Given the description of an element on the screen output the (x, y) to click on. 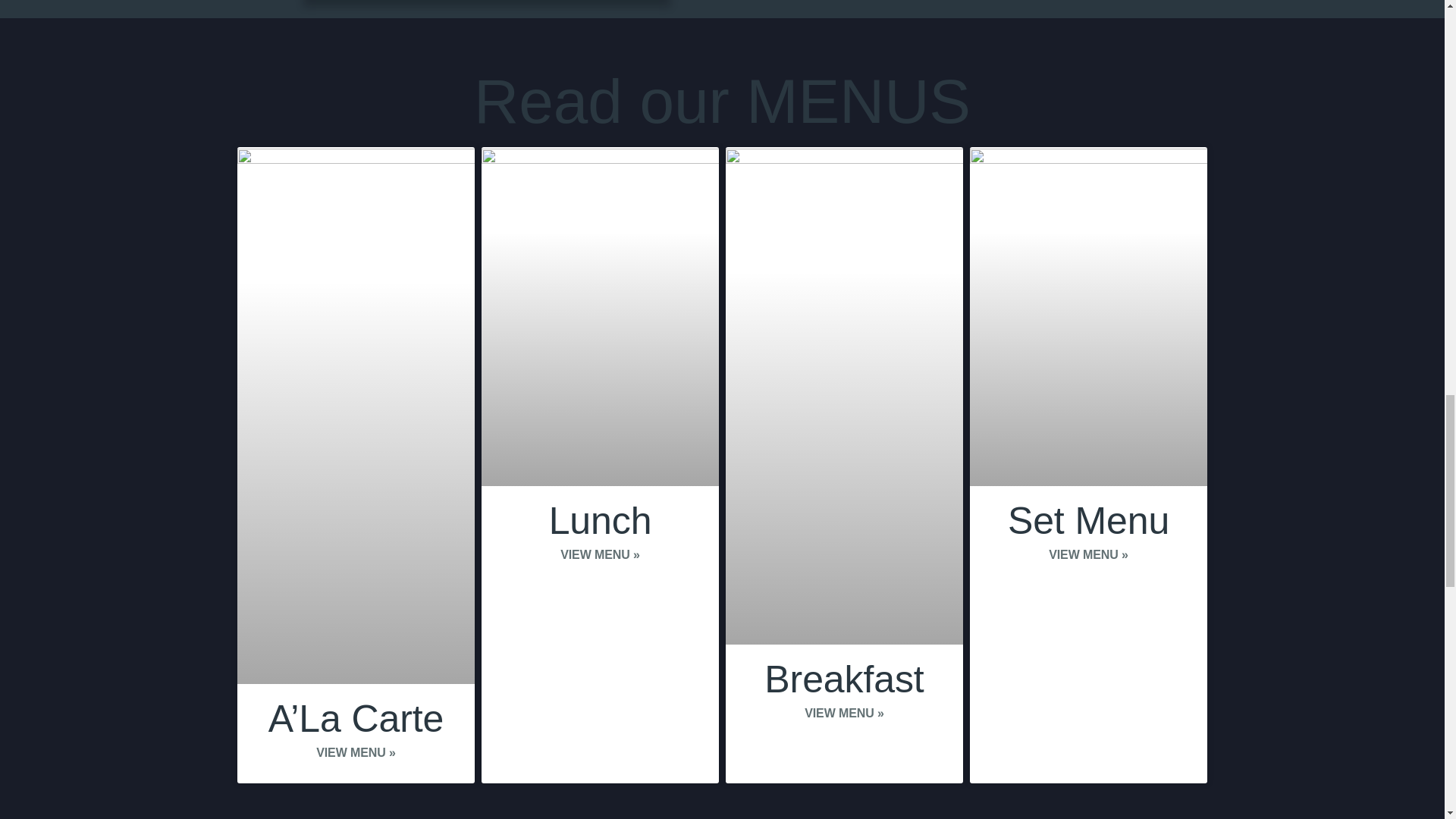
Lunch (600, 520)
Set Menu (1088, 520)
Breakfast (843, 679)
